Given the description of an element on the screen output the (x, y) to click on. 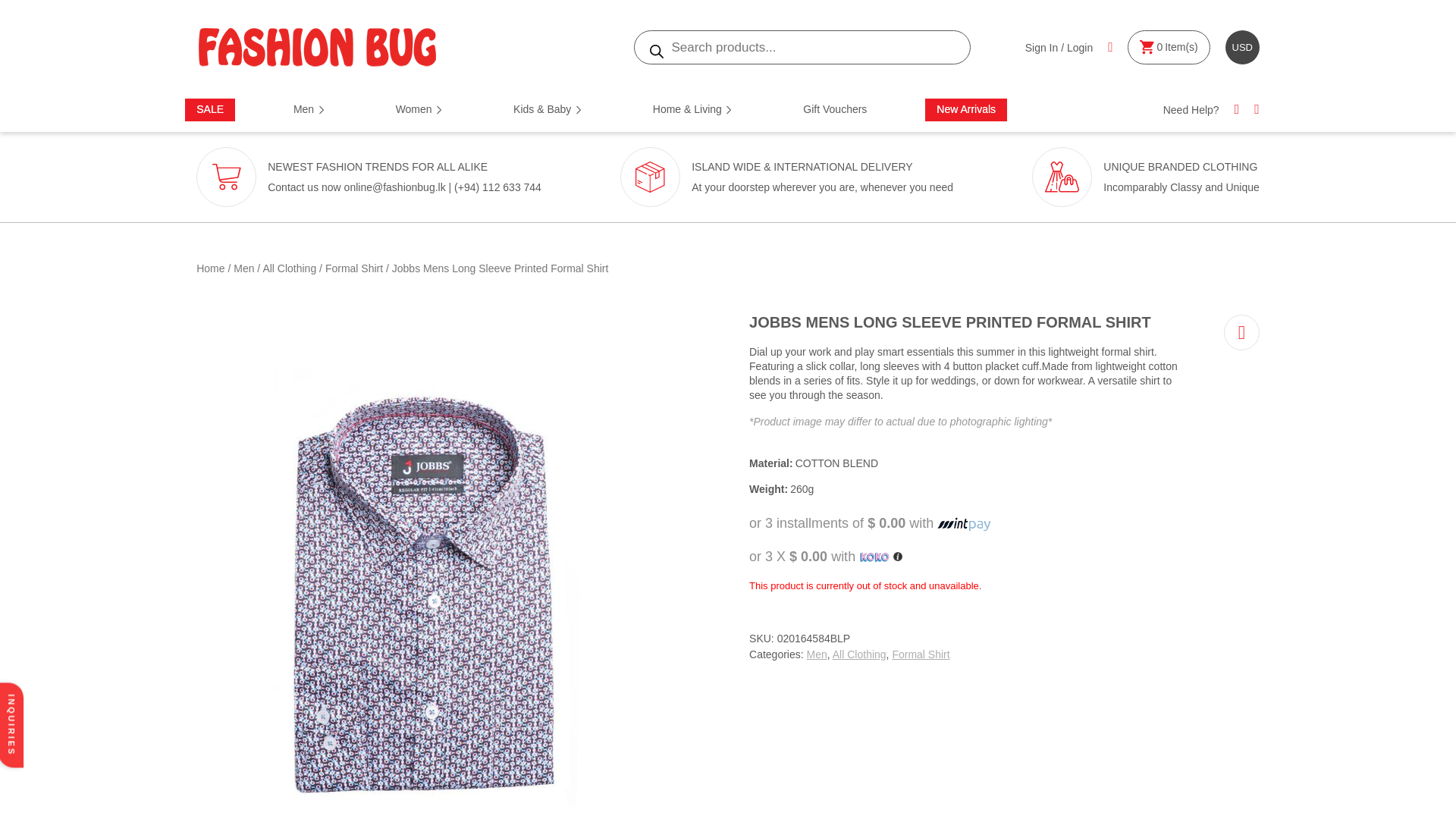
SALE (210, 109)
Men (345, 108)
Women (454, 108)
